Given the description of an element on the screen output the (x, y) to click on. 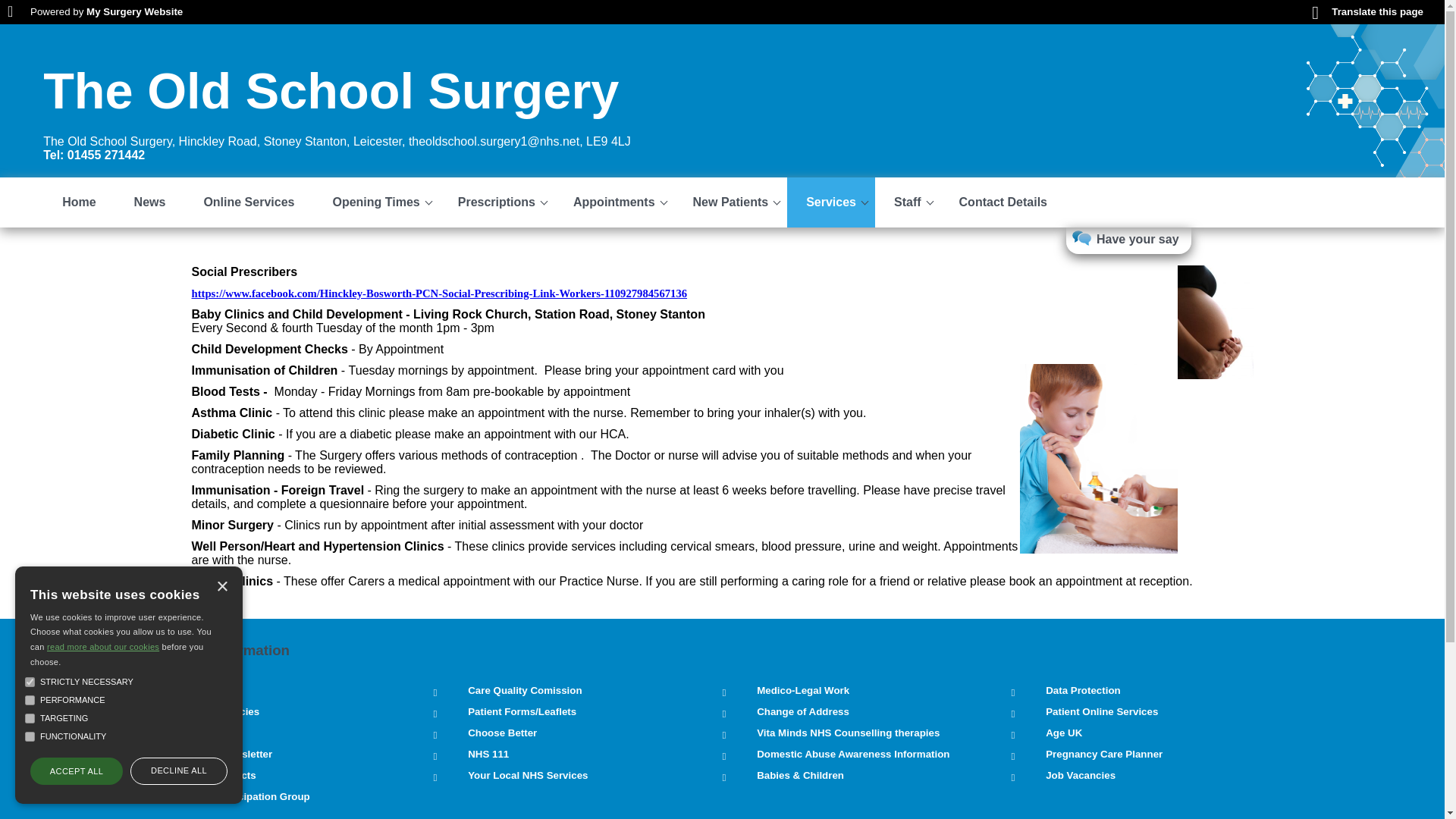
read more about our cookies (102, 646)
Translate this page (1367, 11)
performance (29, 700)
Full contact details (315, 148)
Appointments (614, 202)
targeting (29, 718)
functionality (29, 737)
ACCEPT ALL (76, 770)
Online Services (248, 202)
The Old School Surgery (330, 90)
